Given the description of an element on the screen output the (x, y) to click on. 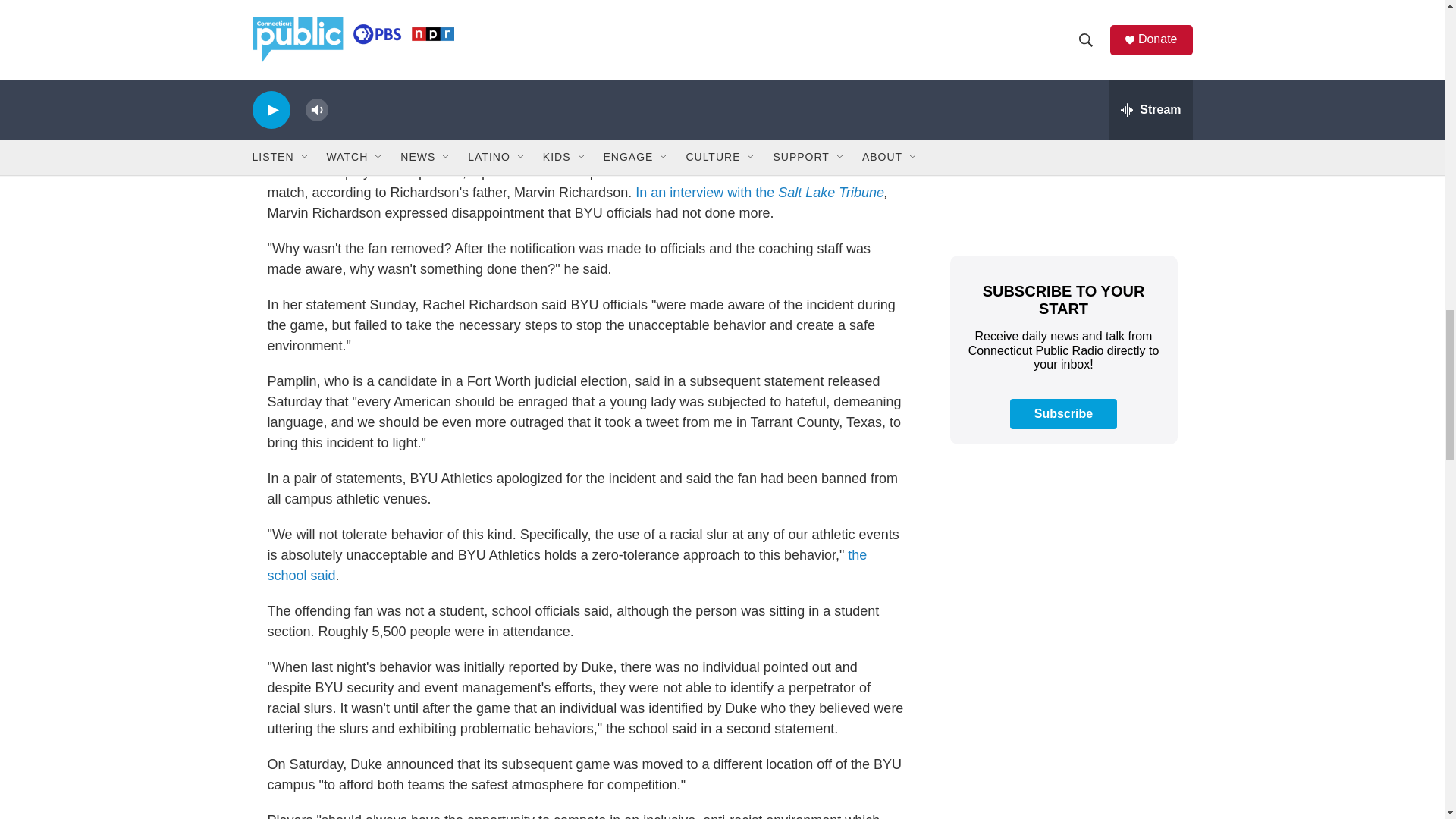
3rd party ad content (1062, 756)
3rd party ad content (1062, 2)
3rd party ad content (1062, 130)
3rd party ad content (1062, 569)
